Given the description of an element on the screen output the (x, y) to click on. 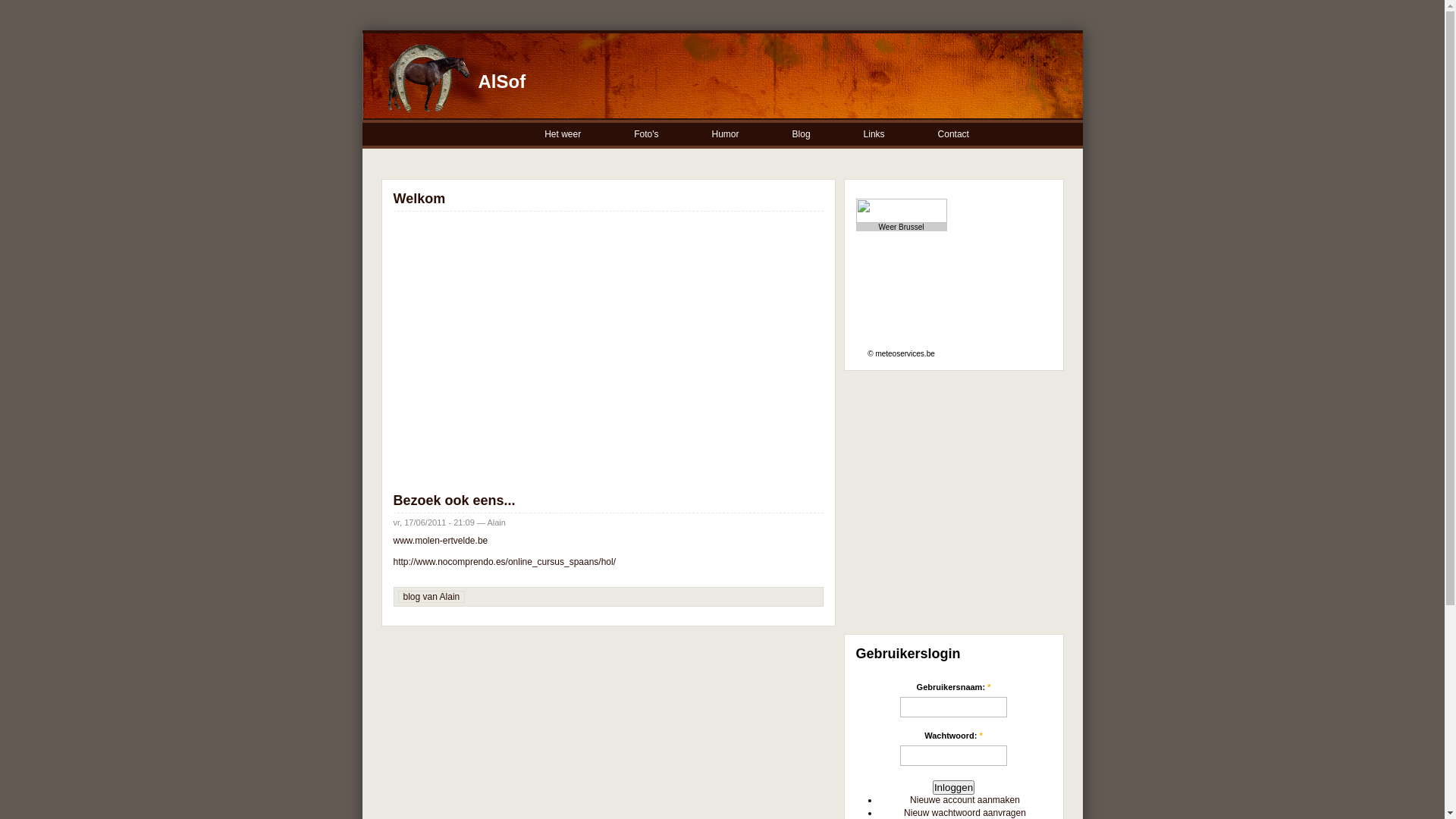
http://www.nocomprendo.es/online_cursus_spaans/hol/ Element type: text (503, 561)
Nieuw wachtwoord aanvragen Element type: text (964, 812)
Humor Element type: text (726, 134)
Bezoek ook eens... Element type: text (453, 500)
AlSof Element type: text (501, 81)
Weer Brussel Element type: text (901, 226)
Welkom Element type: text (418, 198)
Het weer Element type: text (563, 134)
Contact Element type: text (954, 134)
Nieuwe account aanmaken Element type: text (964, 799)
Your weather service Element type: hover (953, 210)
Inloggen Element type: text (953, 787)
Home Element type: hover (425, 123)
Foto's Element type: text (646, 134)
www.molen-ertvelde.be Element type: text (439, 540)
blog van Alain Element type: text (431, 596)
Links Element type: text (874, 134)
Blog Element type: text (802, 134)
